Given the description of an element on the screen output the (x, y) to click on. 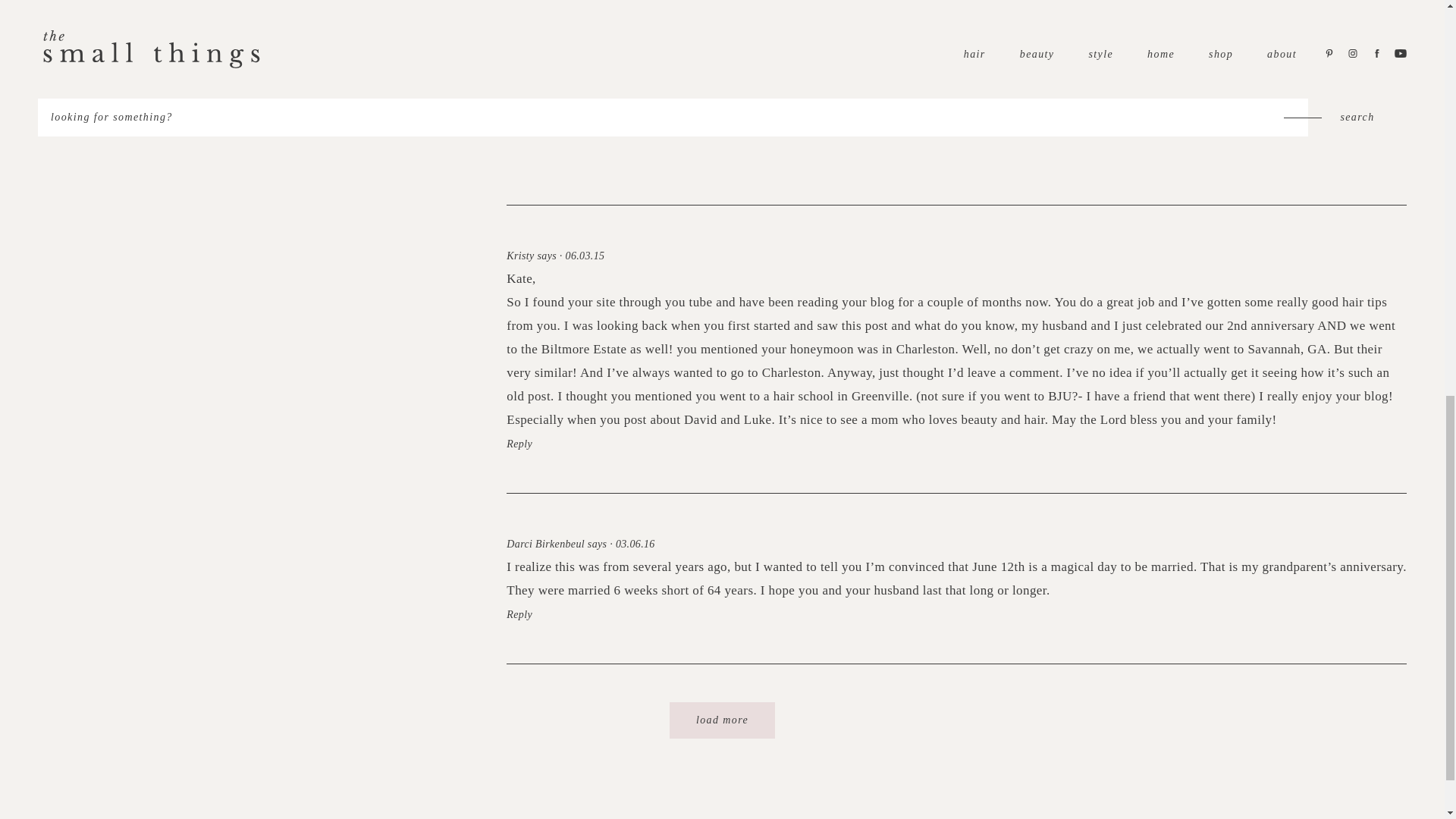
Reply (519, 443)
Reply (519, 614)
Reply (519, 8)
Reply (519, 155)
